Given the description of an element on the screen output the (x, y) to click on. 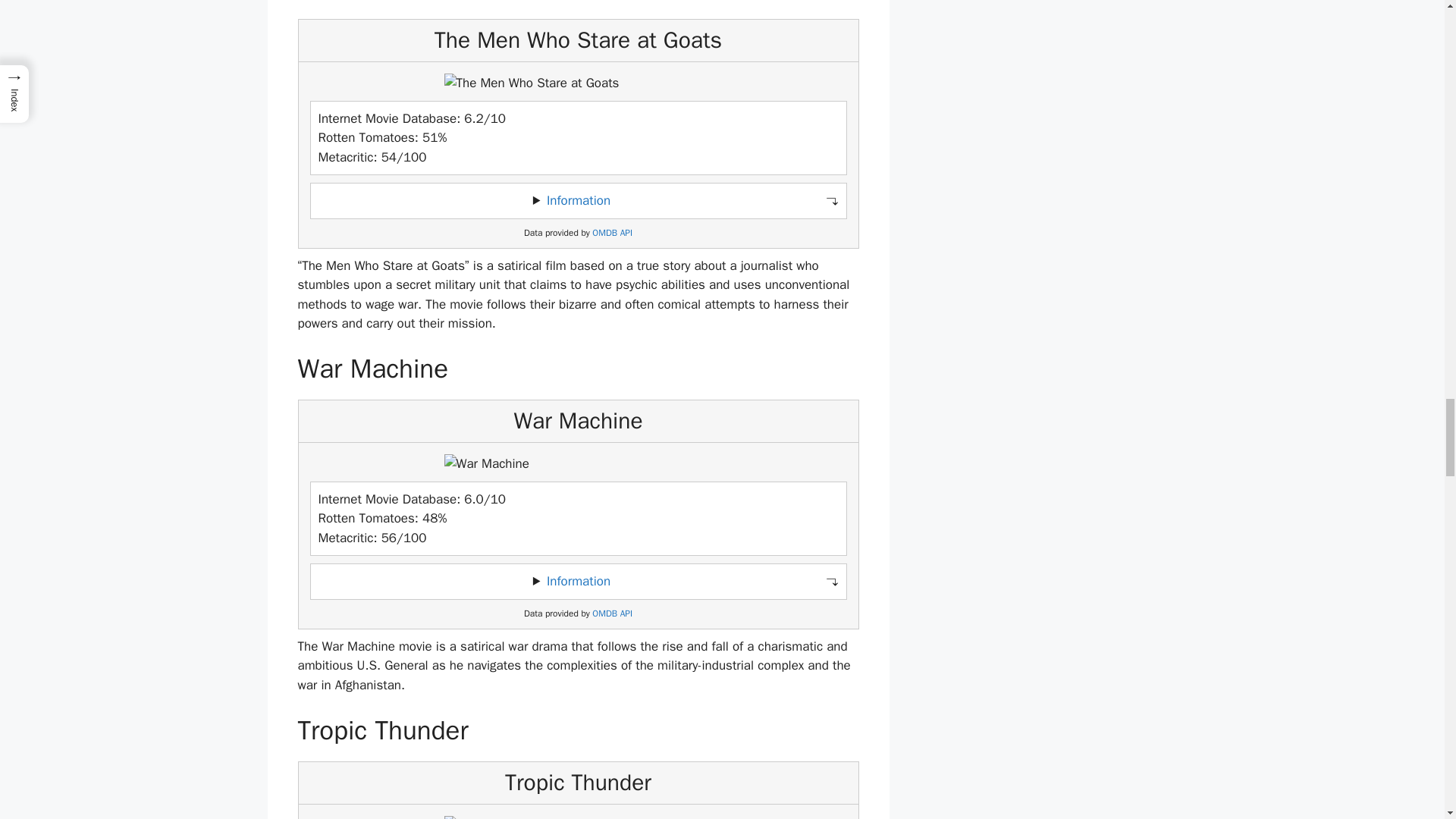
Information (578, 200)
OMDB API (611, 233)
OMDB API (611, 613)
Information (578, 580)
